Given the description of an element on the screen output the (x, y) to click on. 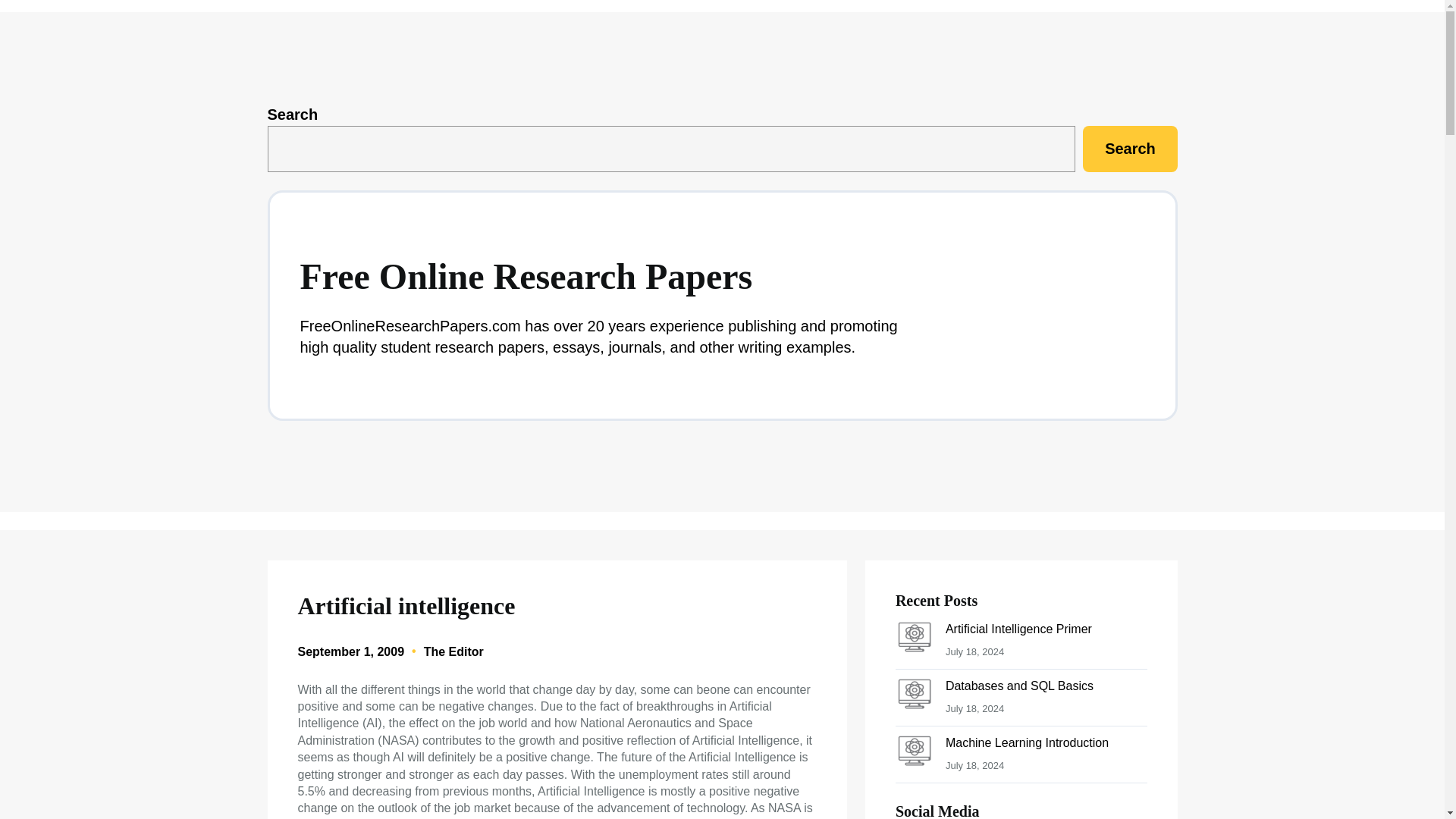
The Editor (453, 651)
Artificial Intelligence Primer (1018, 628)
Machine Learning Introduction (1026, 742)
Free Online Research Papers (525, 276)
Databases and SQL Basics (1018, 685)
Search (1129, 148)
